Given the description of an element on the screen output the (x, y) to click on. 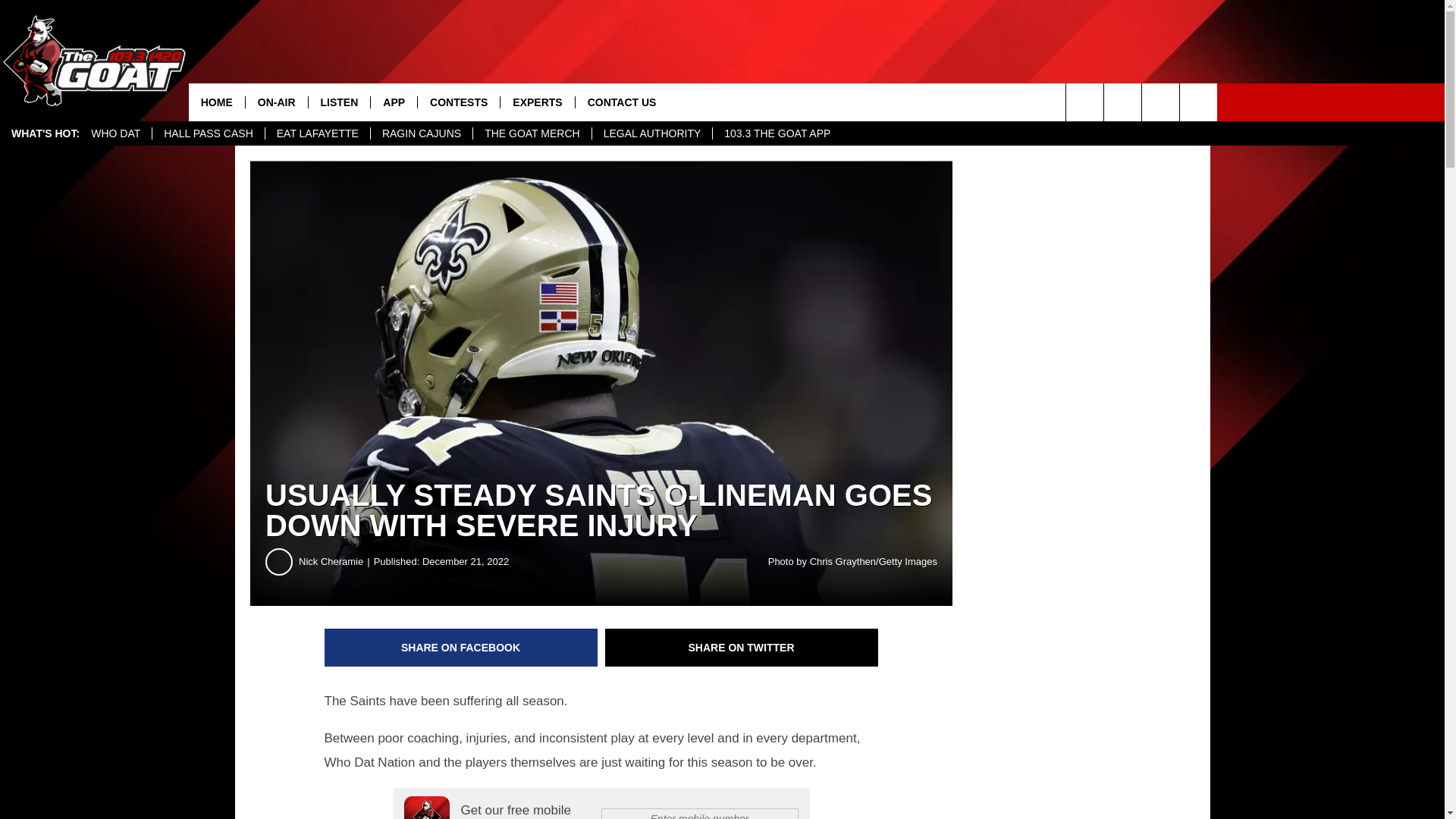
APP (392, 102)
ON-AIR (275, 102)
EAT LAFAYETTE (316, 133)
LEGAL AUTHORITY (652, 133)
EXPERTS (536, 102)
WHO DAT (115, 133)
CONTESTS (457, 102)
THE GOAT MERCH (531, 133)
HALL PASS CASH (207, 133)
RAGIN CAJUNS (420, 133)
